Given the description of an element on the screen output the (x, y) to click on. 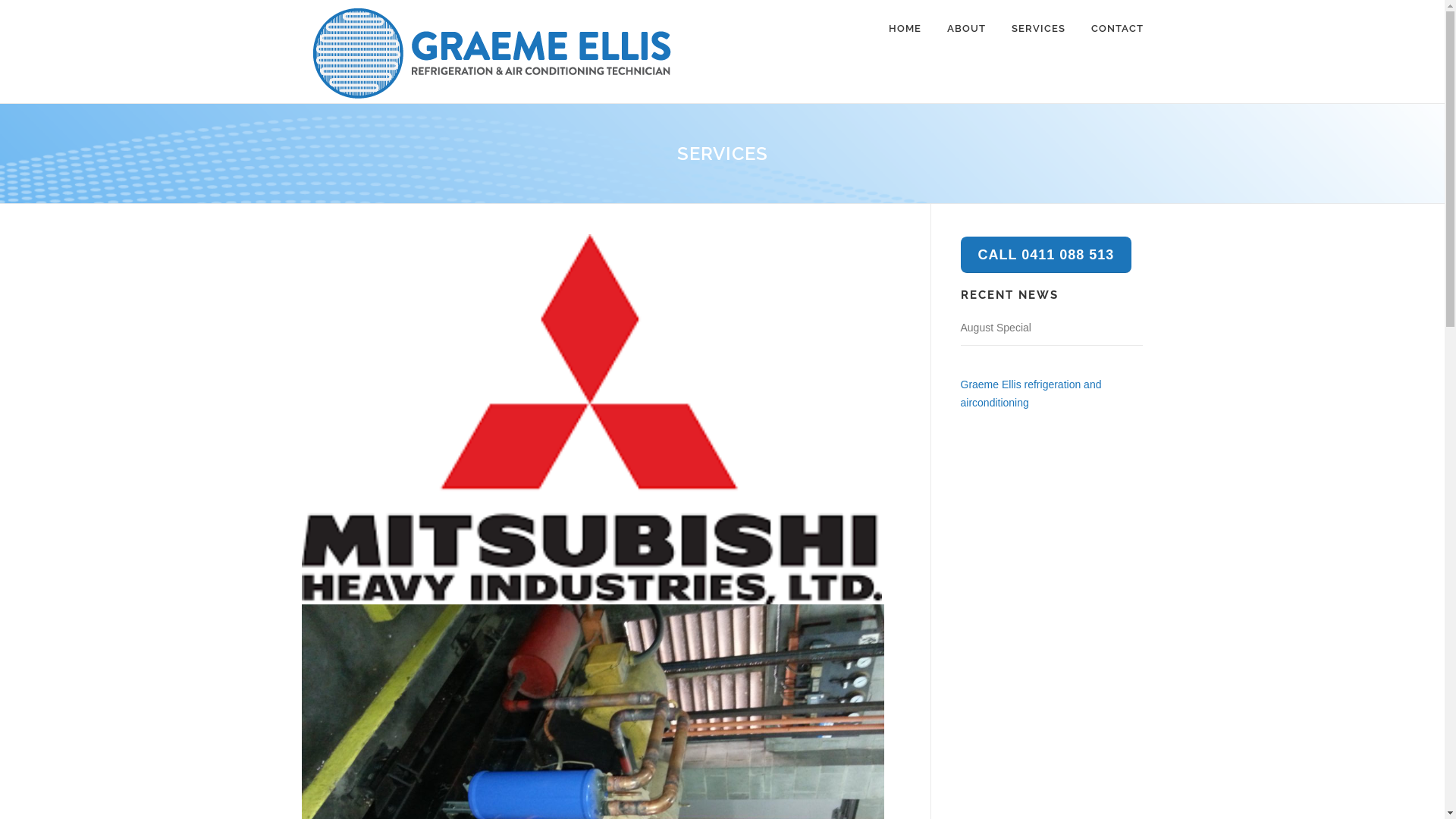
SERVICES Element type: text (1037, 28)
CALL 0411 088 513 Element type: text (1045, 254)
CONTACT Element type: text (1110, 28)
ABOUT Element type: text (966, 28)
HOME Element type: text (904, 28)
August Special Element type: text (995, 327)
Graeme Ellis refrigeration and airconditioning Element type: text (1030, 393)
